Given the description of an element on the screen output the (x, y) to click on. 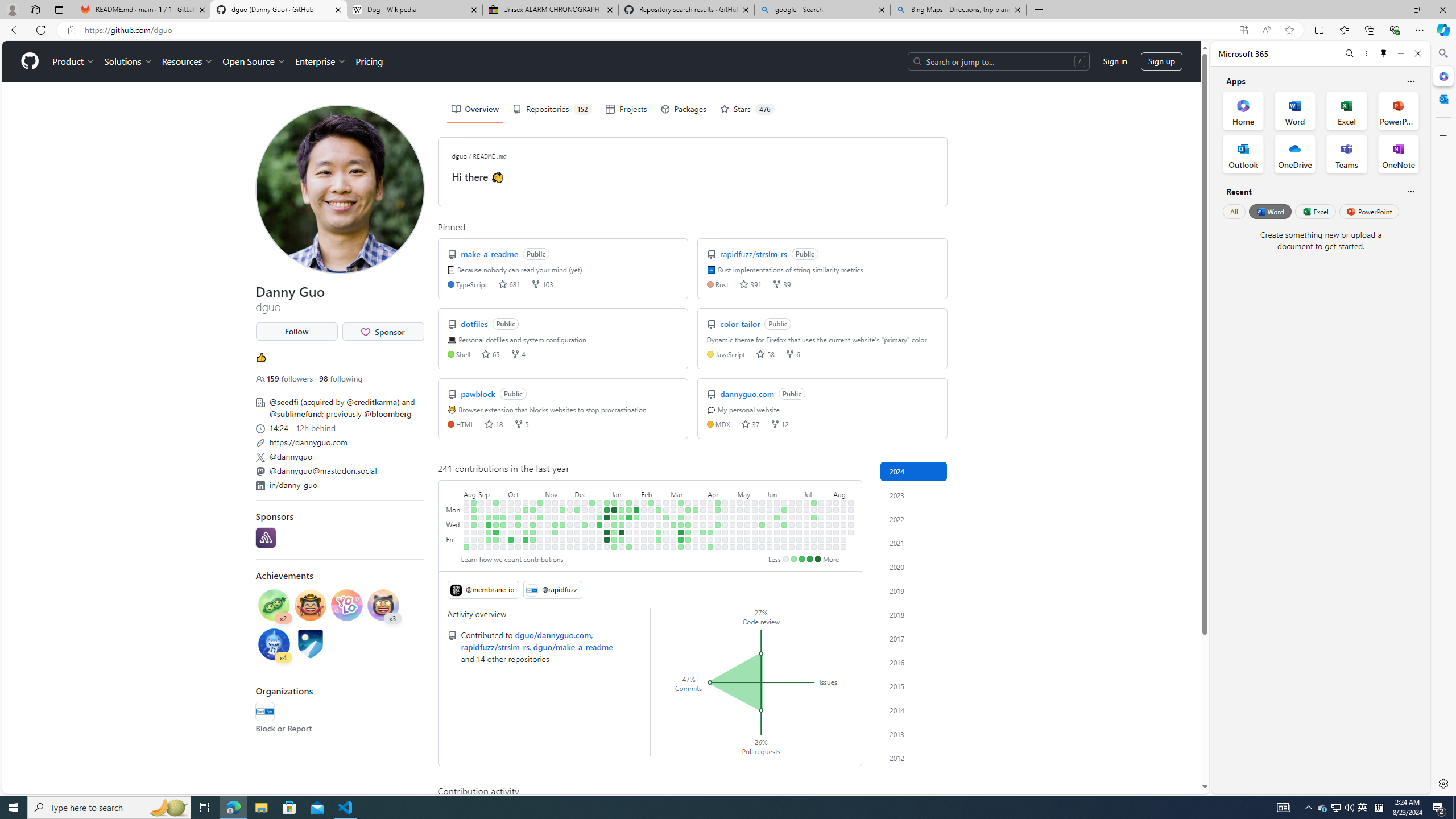
No contributions on February 3rd. (636, 546)
No contributions on August 21st. (850, 524)
2 contributions on April 11th. (710, 531)
No contributions on April 24th. (725, 524)
Monday (454, 509)
August (843, 492)
No contributions on June 1st. (761, 546)
No contributions on February 8th. (643, 531)
Sunday (454, 502)
2 contributions on July 14th. (813, 502)
No contributions on November 2nd. (540, 531)
No contributions on June 3rd. (770, 509)
No contributions on June 8th. (770, 546)
